Given the description of an element on the screen output the (x, y) to click on. 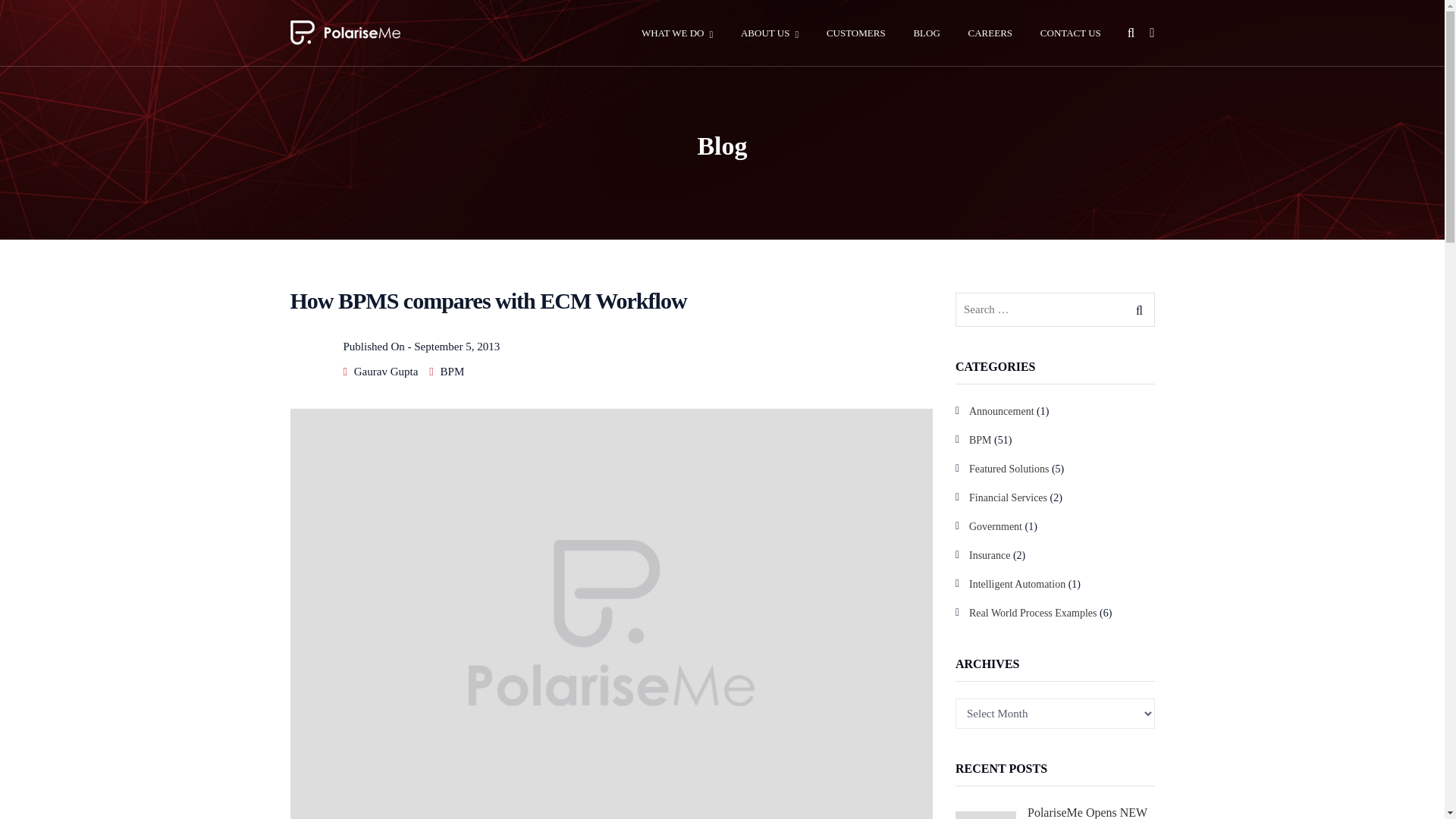
CONTACT US (1070, 33)
CUSTOMERS (856, 33)
WHAT WE DO (677, 33)
